Given the description of an element on the screen output the (x, y) to click on. 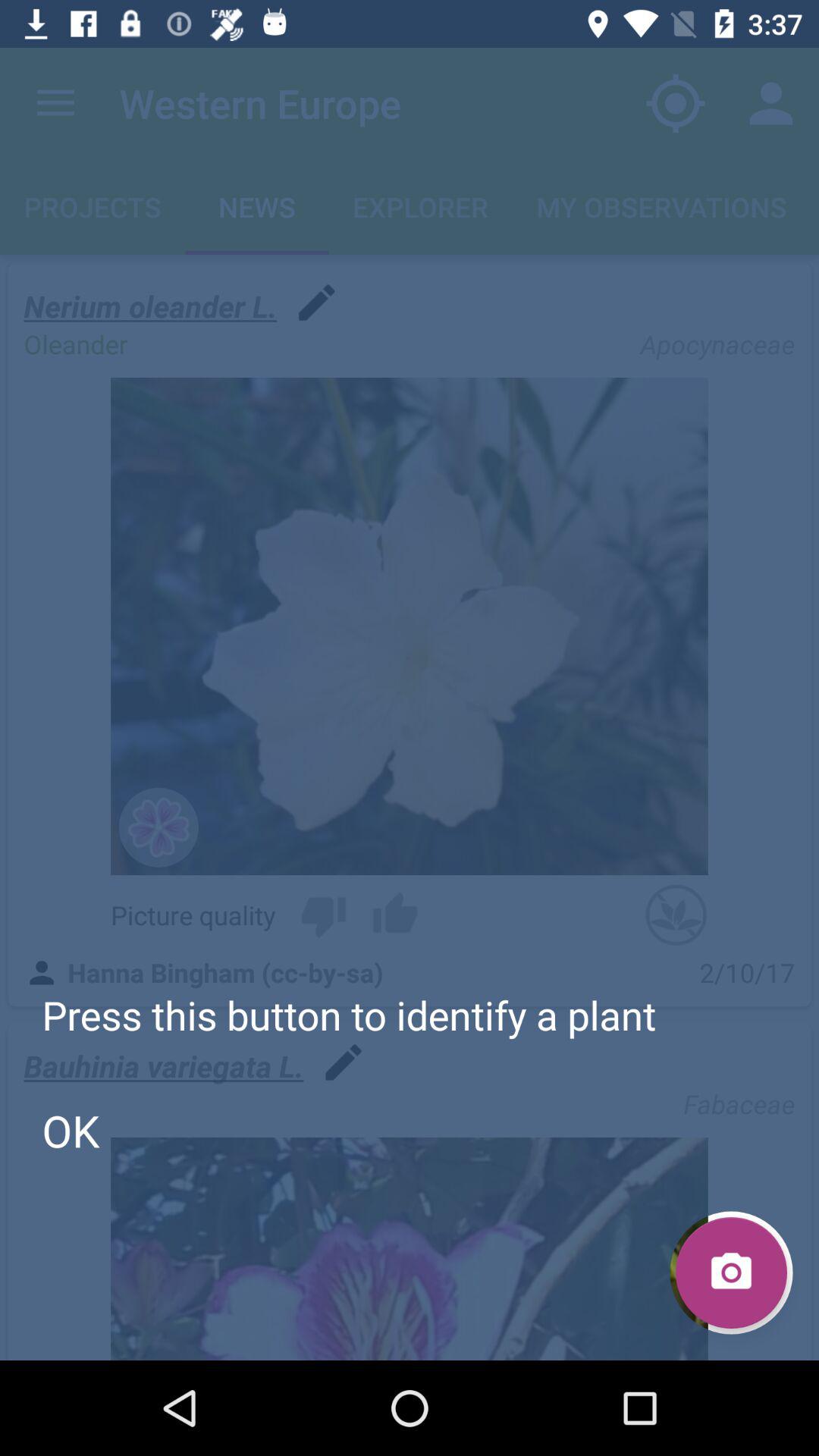
click nerium oleander l. item (149, 306)
